Given the description of an element on the screen output the (x, y) to click on. 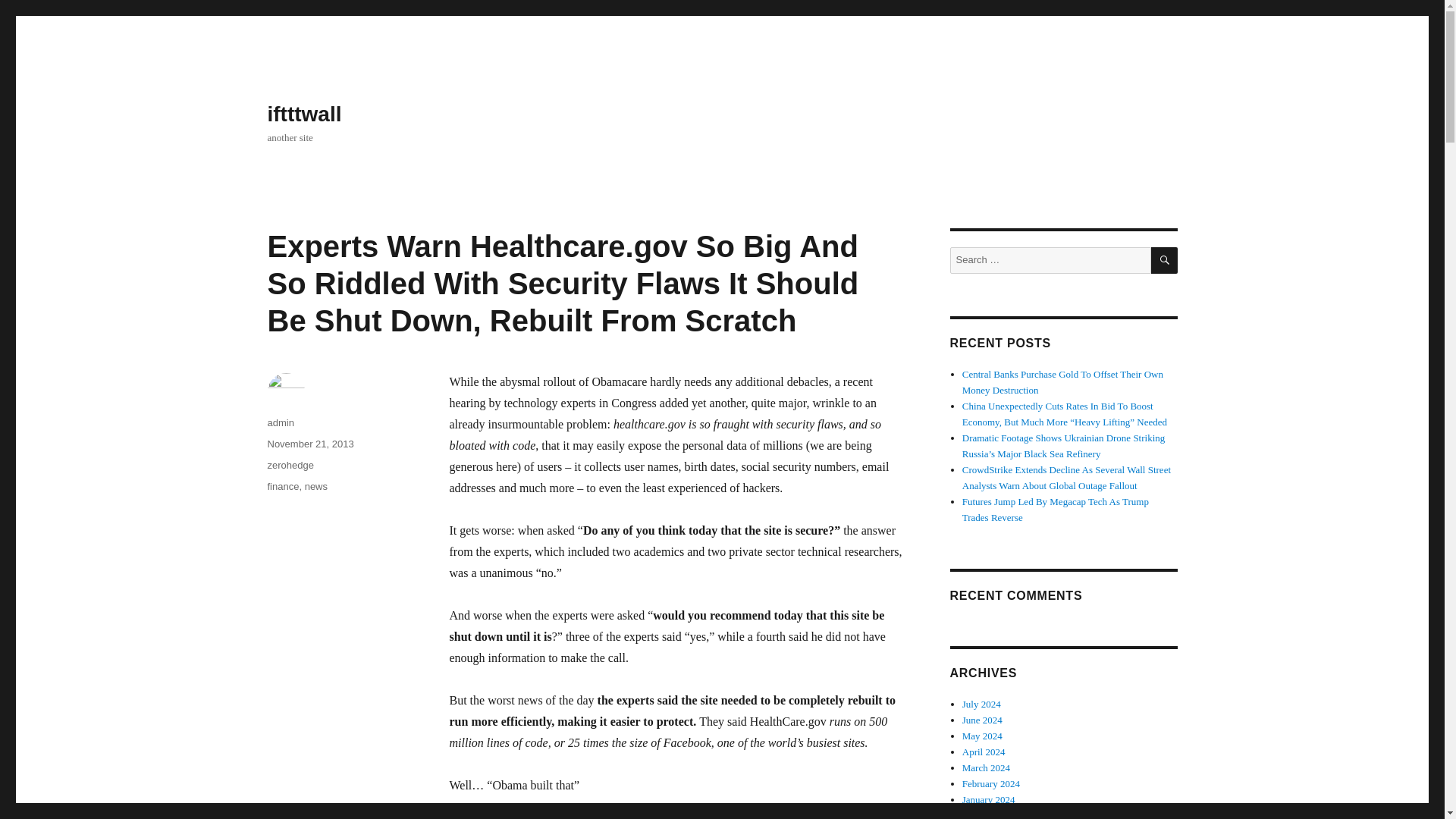
admin (280, 422)
February 2024 (991, 783)
November 21, 2013 (309, 443)
June 2024 (982, 719)
April 2024 (984, 751)
iftttwall (303, 114)
January 2024 (988, 799)
July 2024 (981, 704)
SEARCH (1164, 260)
December 2023 (993, 814)
news (315, 486)
finance (282, 486)
March 2024 (986, 767)
zerohedge (289, 464)
